Given the description of an element on the screen output the (x, y) to click on. 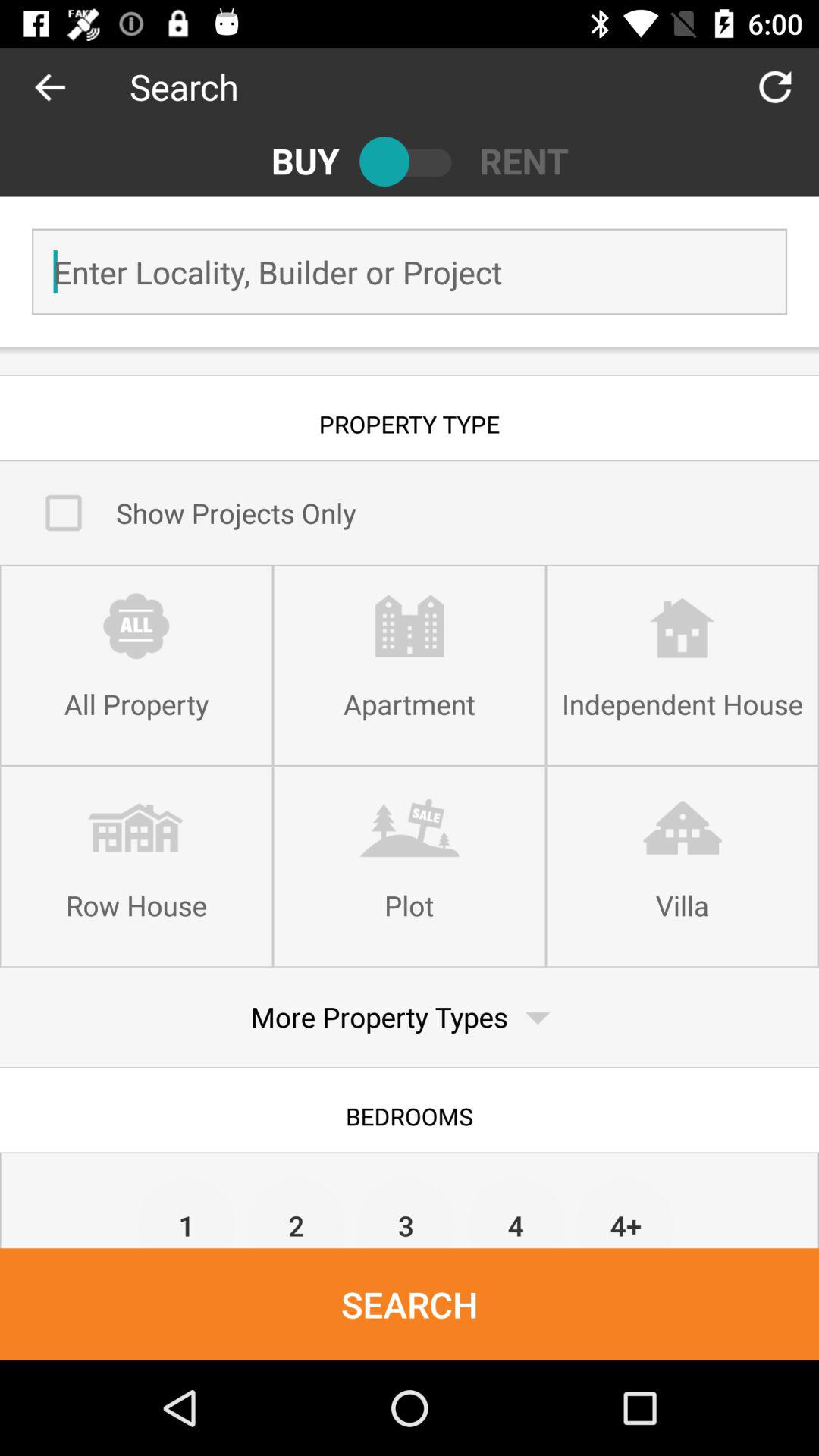
open 1 icon (186, 1212)
